Given the description of an element on the screen output the (x, y) to click on. 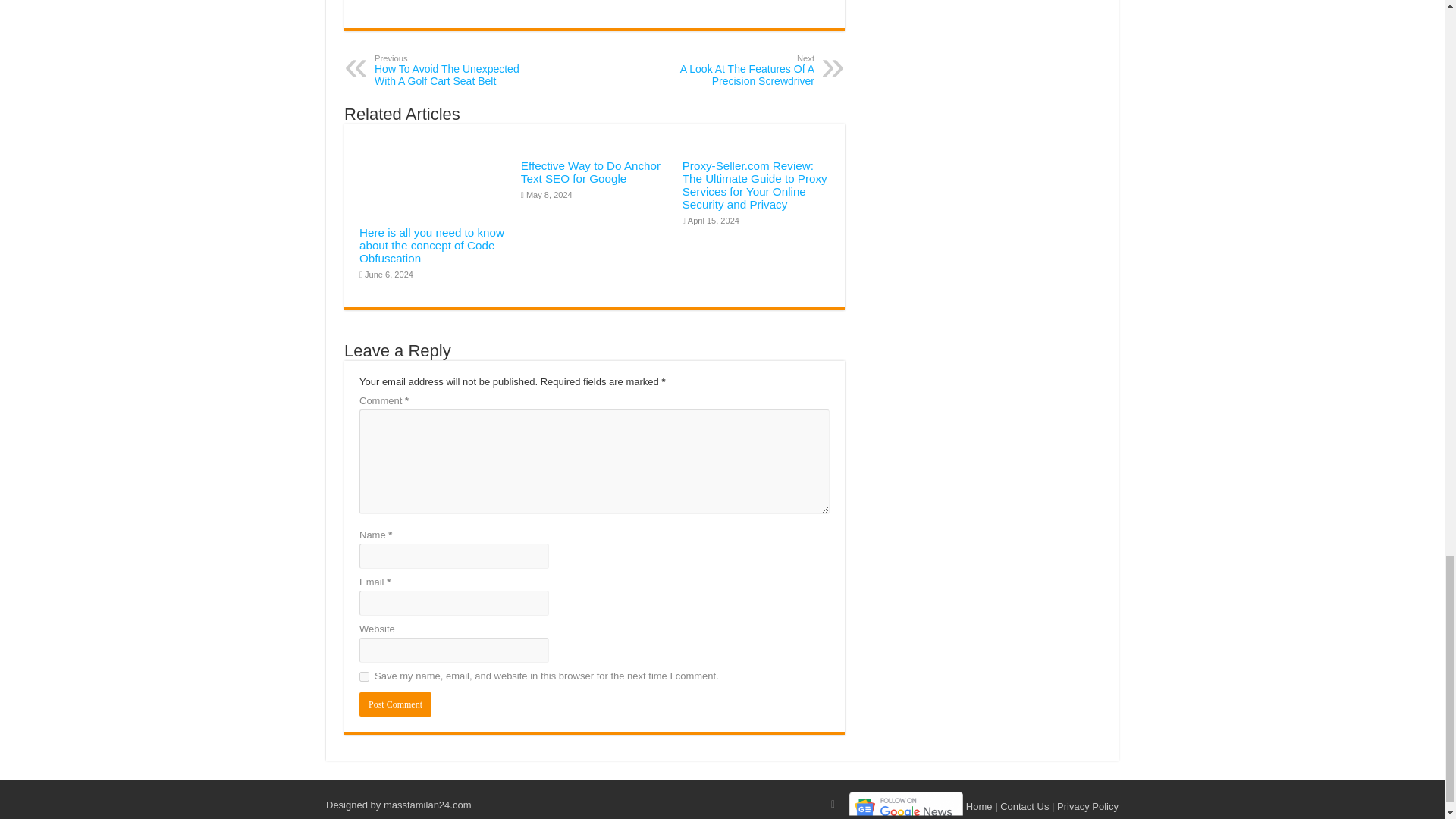
Post Comment (736, 70)
yes (394, 704)
Effective Way to Do Anchor Text SEO for Google (364, 676)
